Given the description of an element on the screen output the (x, y) to click on. 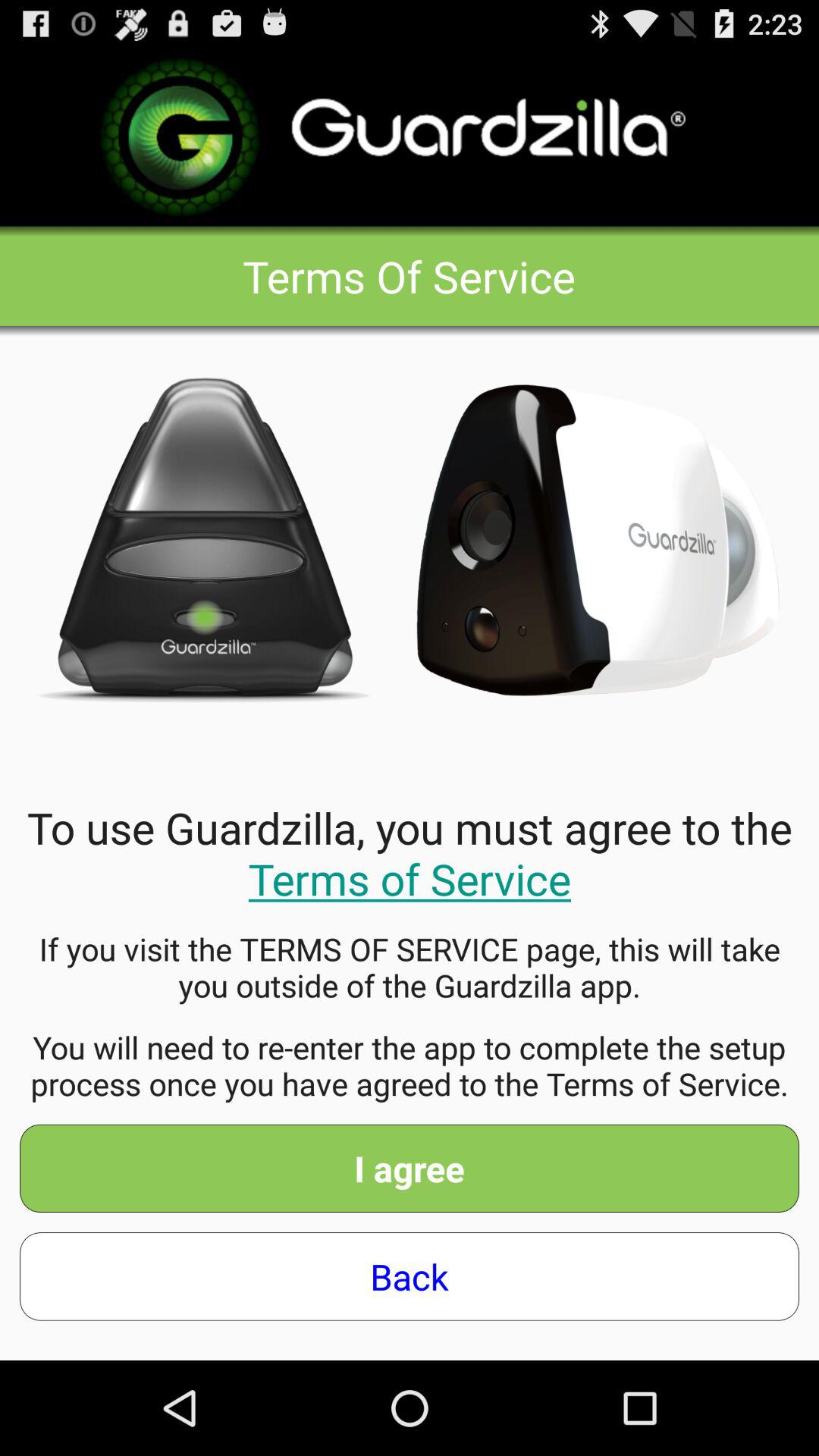
tap the to use guardzilla (409, 852)
